Given the description of an element on the screen output the (x, y) to click on. 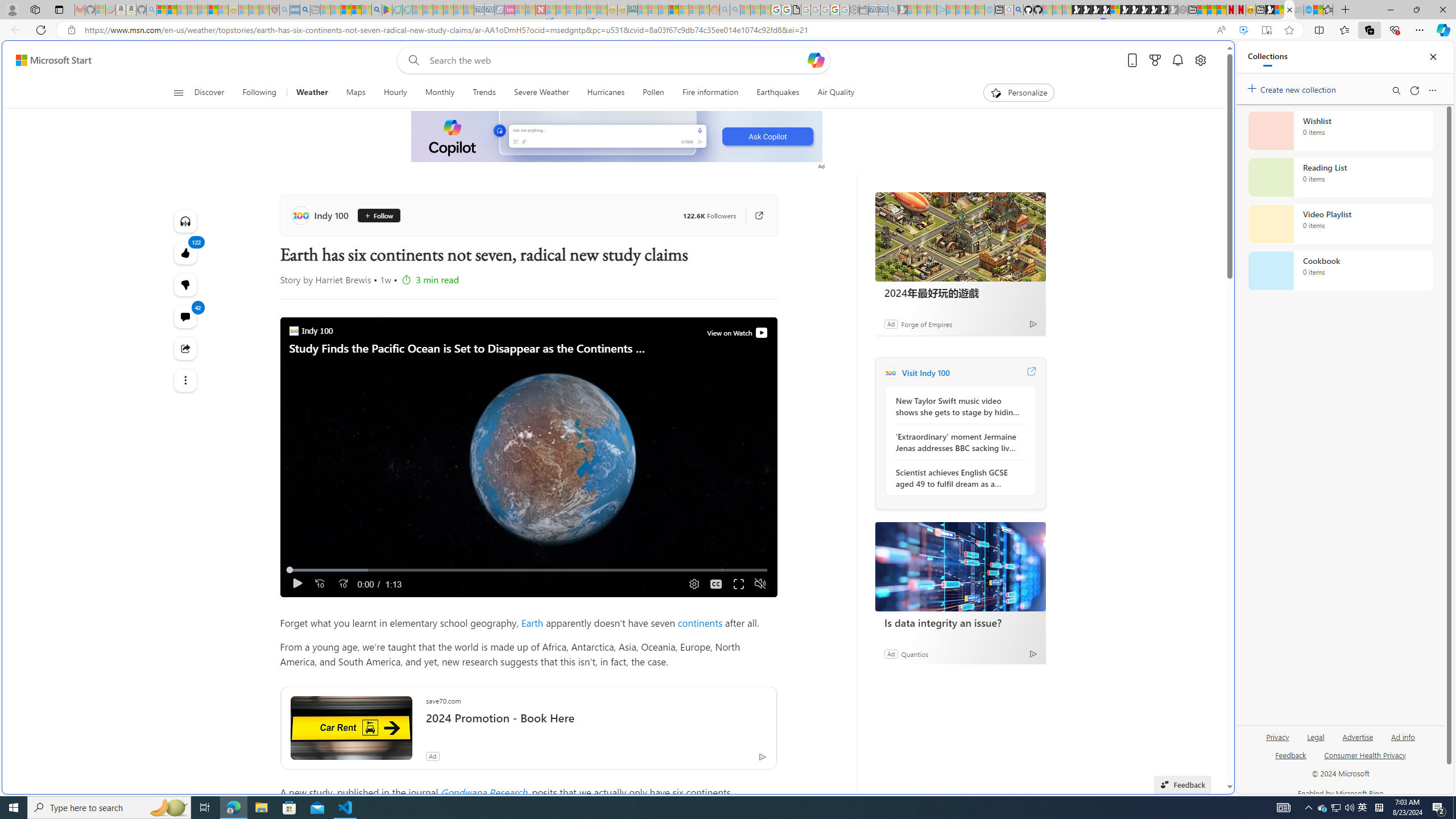
Skip to footer (46, 59)
Pets - MSN (356, 9)
Open navigation menu (177, 92)
Severe Weather (541, 92)
MSNBC - MSN - Sleeping (642, 9)
MSN (1269, 9)
